Given the description of an element on the screen output the (x, y) to click on. 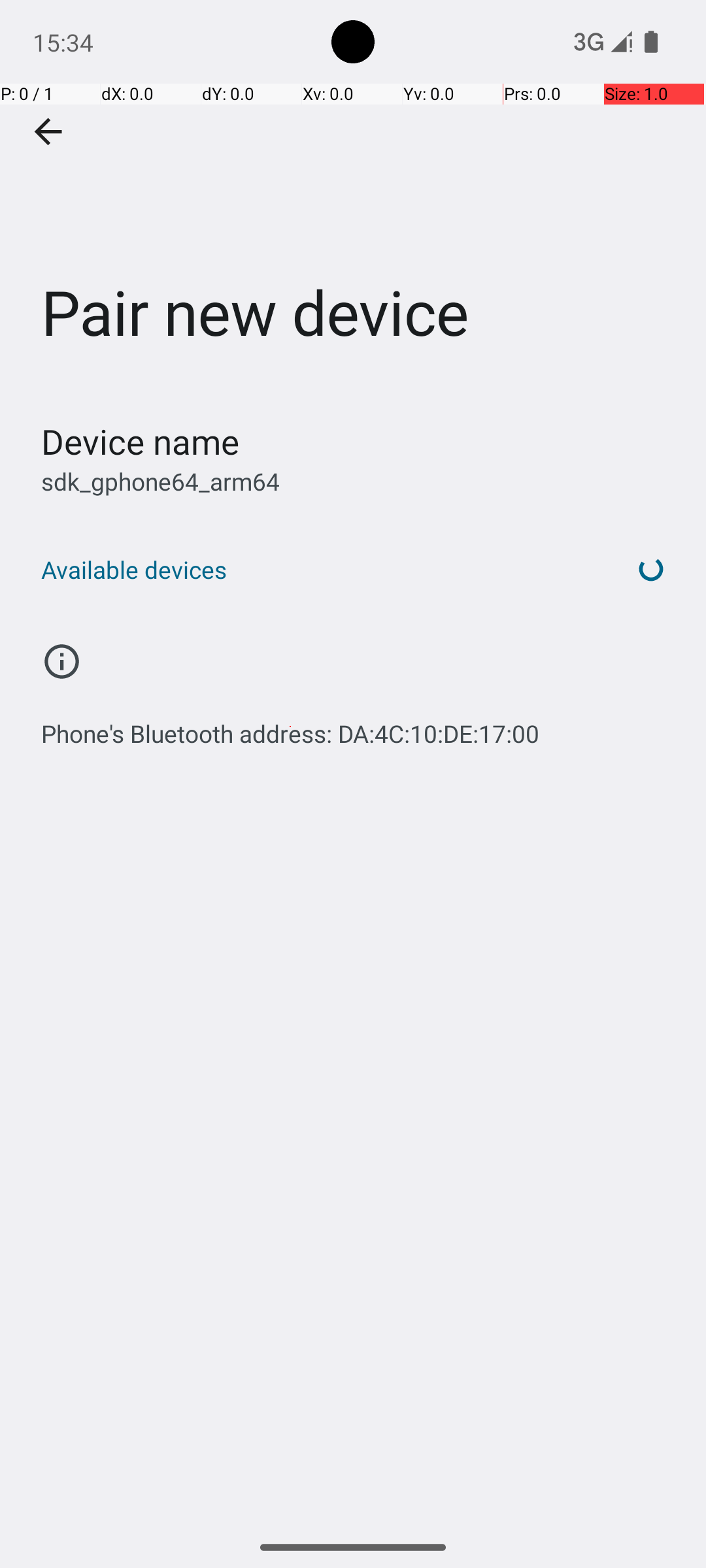
Pair new device Element type: android.widget.FrameLayout (353, 195)
Device name Element type: android.widget.TextView (140, 441)
Available devices Element type: android.widget.TextView (318, 569)
Phone's Bluetooth address: DA:4C:10:DE:17:00 Element type: android.widget.TextView (290, 726)
